Given the description of an element on the screen output the (x, y) to click on. 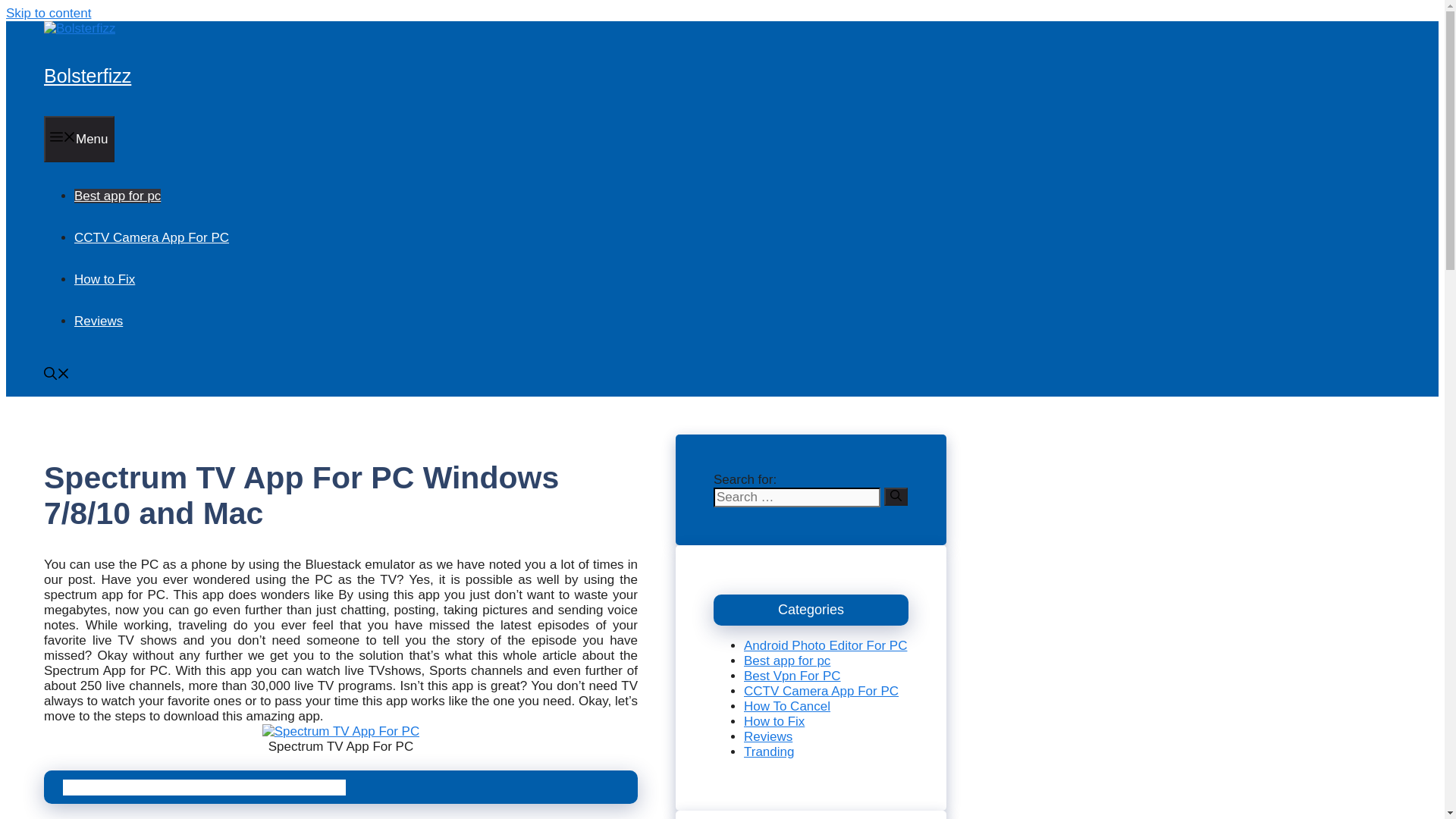
Tranding (768, 751)
Skip to content (47, 12)
Search for: (796, 496)
Bolsterfizz (79, 28)
CCTV Camera App For PC (821, 690)
How to Fix (104, 278)
Best app for pc (117, 196)
CCTV Camera App For PC (151, 237)
Best Vpn For PC (792, 676)
Reviews (768, 736)
